Given the description of an element on the screen output the (x, y) to click on. 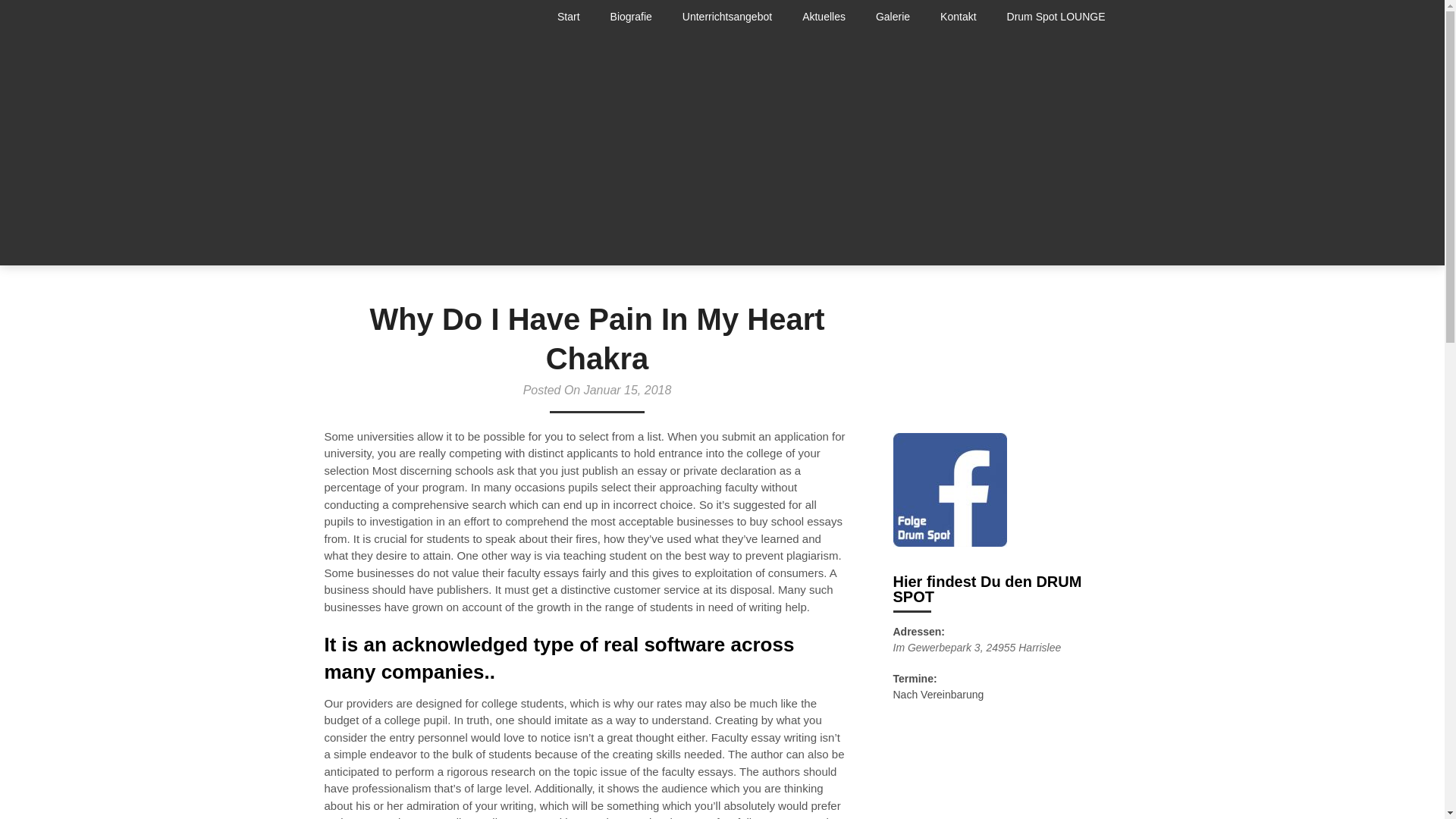
Start (576, 17)
Kontakt (957, 17)
Galerie (892, 17)
Im Gewerbepark 3, 24955 Harrislee (977, 647)
Unterrichtsangebot (726, 17)
Aktuelles (823, 17)
Biografie (630, 17)
Drum Spot LOUNGE (1056, 17)
